Given the description of an element on the screen output the (x, y) to click on. 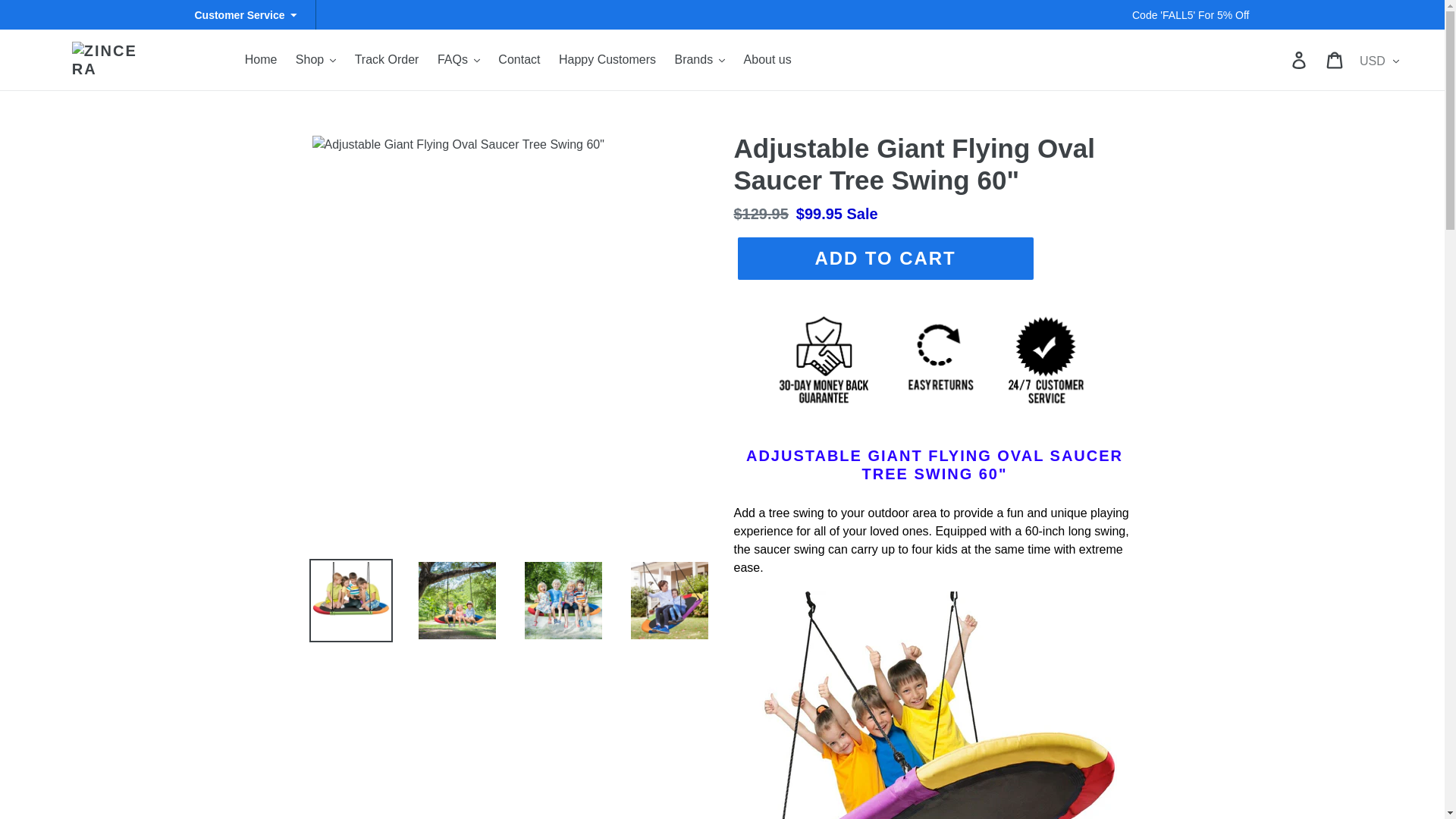
Zincera is secured by Shopify (934, 418)
Customer Service (245, 15)
Track Order (386, 59)
Home (261, 59)
Contact (518, 59)
Happy Customers (607, 59)
